Given the description of an element on the screen output the (x, y) to click on. 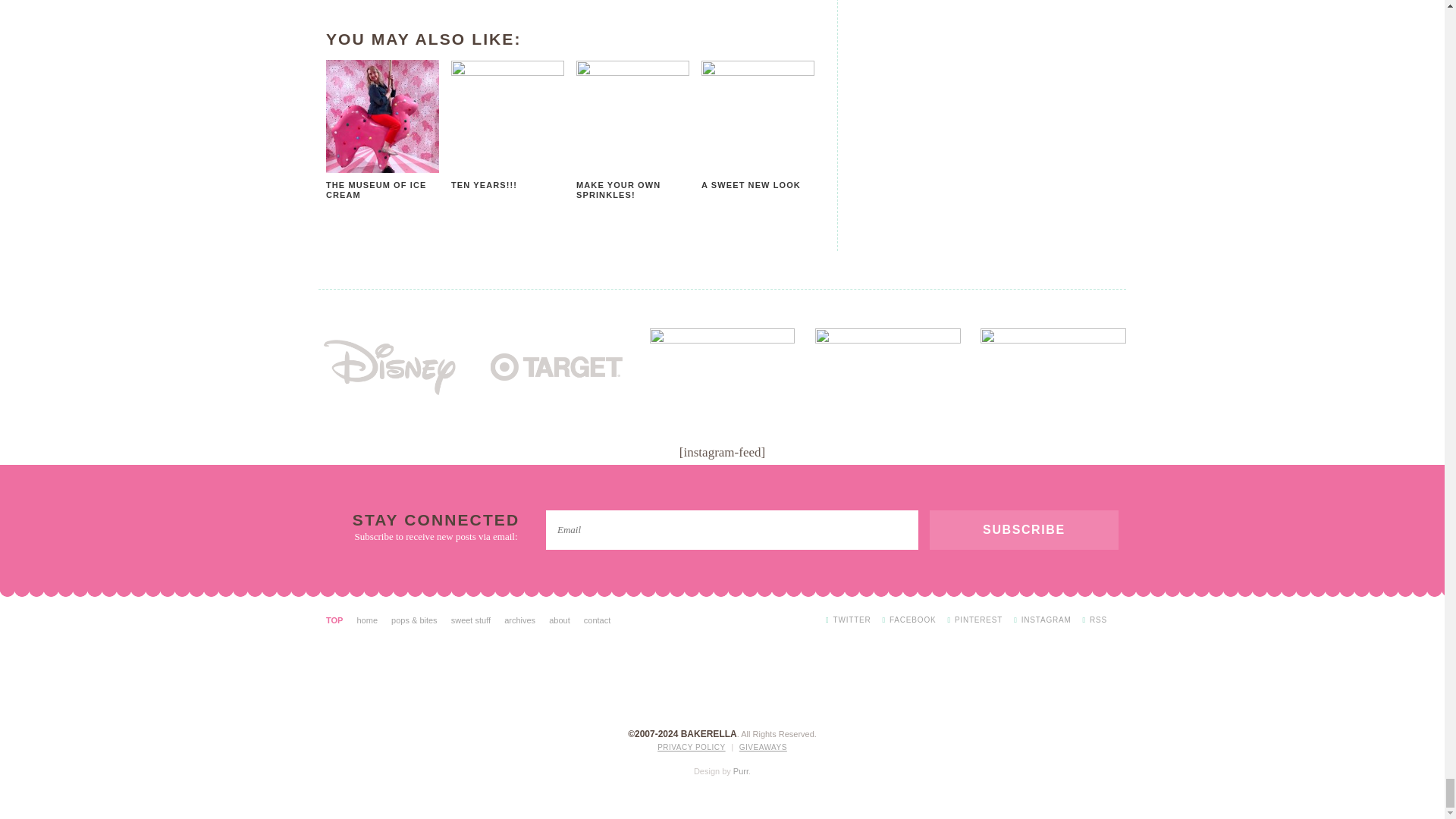
Pinterest (975, 619)
Twitter (847, 619)
Instagram (1041, 619)
Facebook (909, 619)
